Given the description of an element on the screen output the (x, y) to click on. 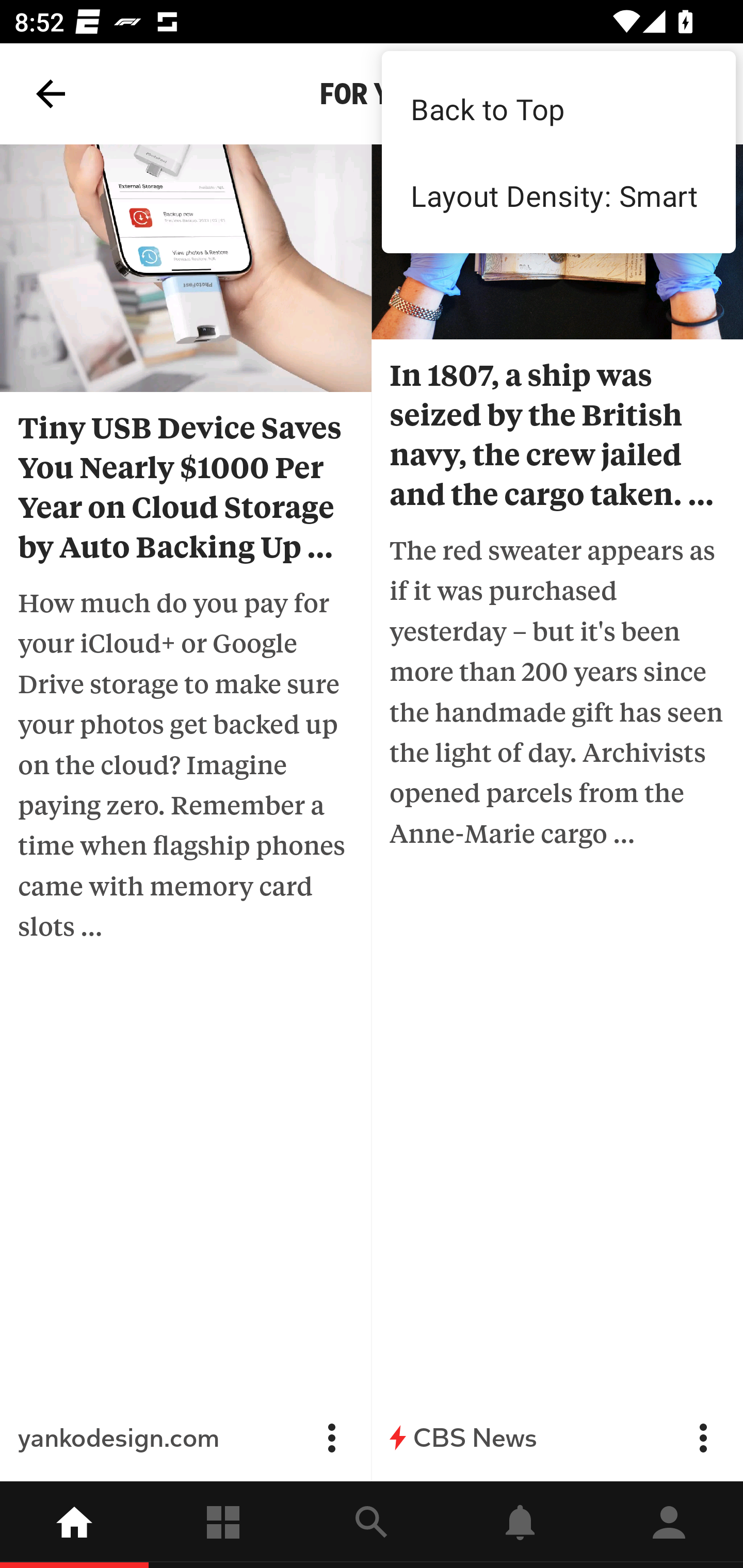
Back to Top (558, 108)
Layout Density: Smart (558, 195)
